Given the description of an element on the screen output the (x, y) to click on. 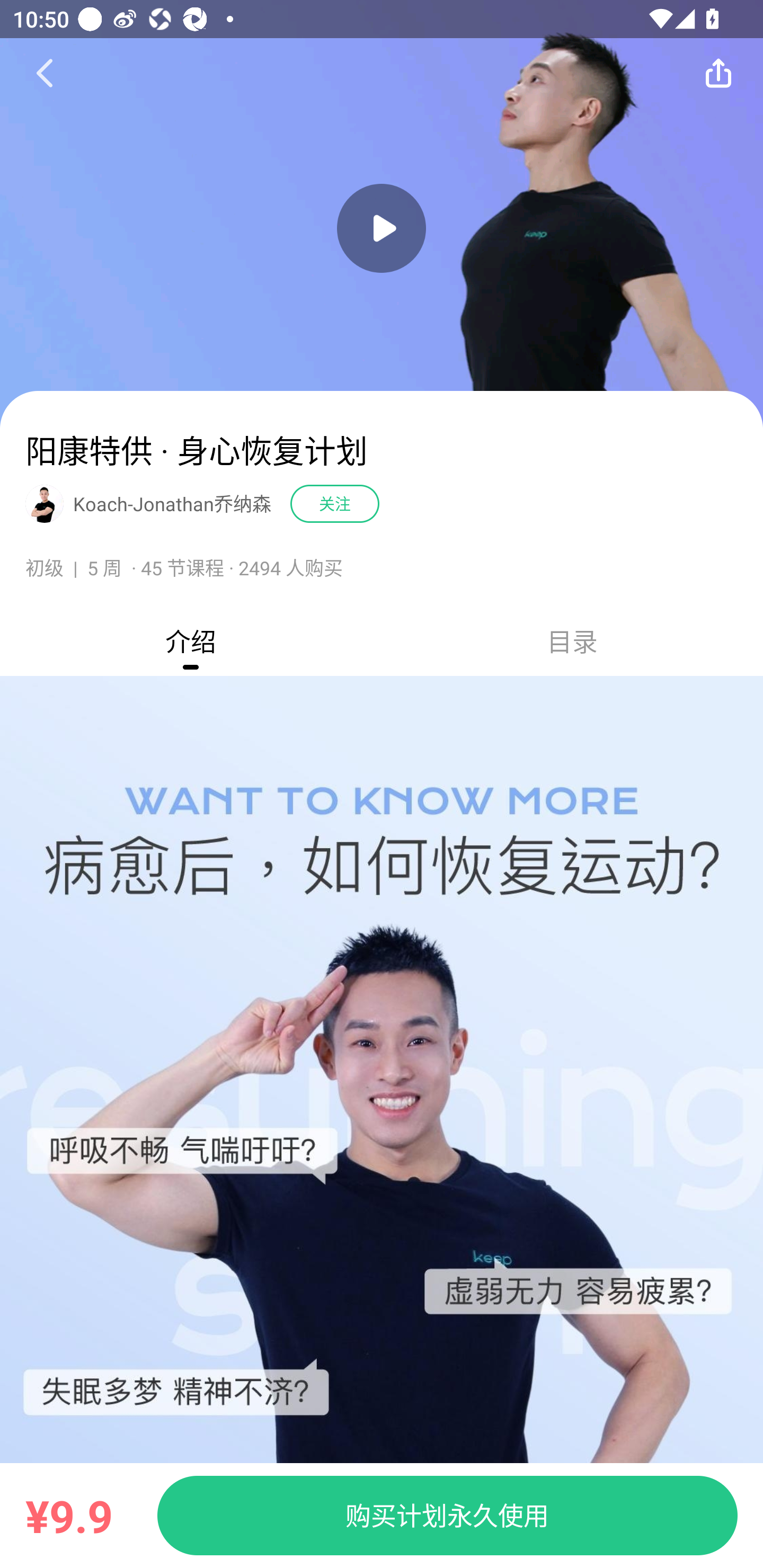
关注 (334, 503)
Koach-Jonathan乔纳森 (172, 503)
介绍 (190, 640)
目录 (572, 640)
购买计划永久使用 (447, 1515)
